Given the description of an element on the screen output the (x, y) to click on. 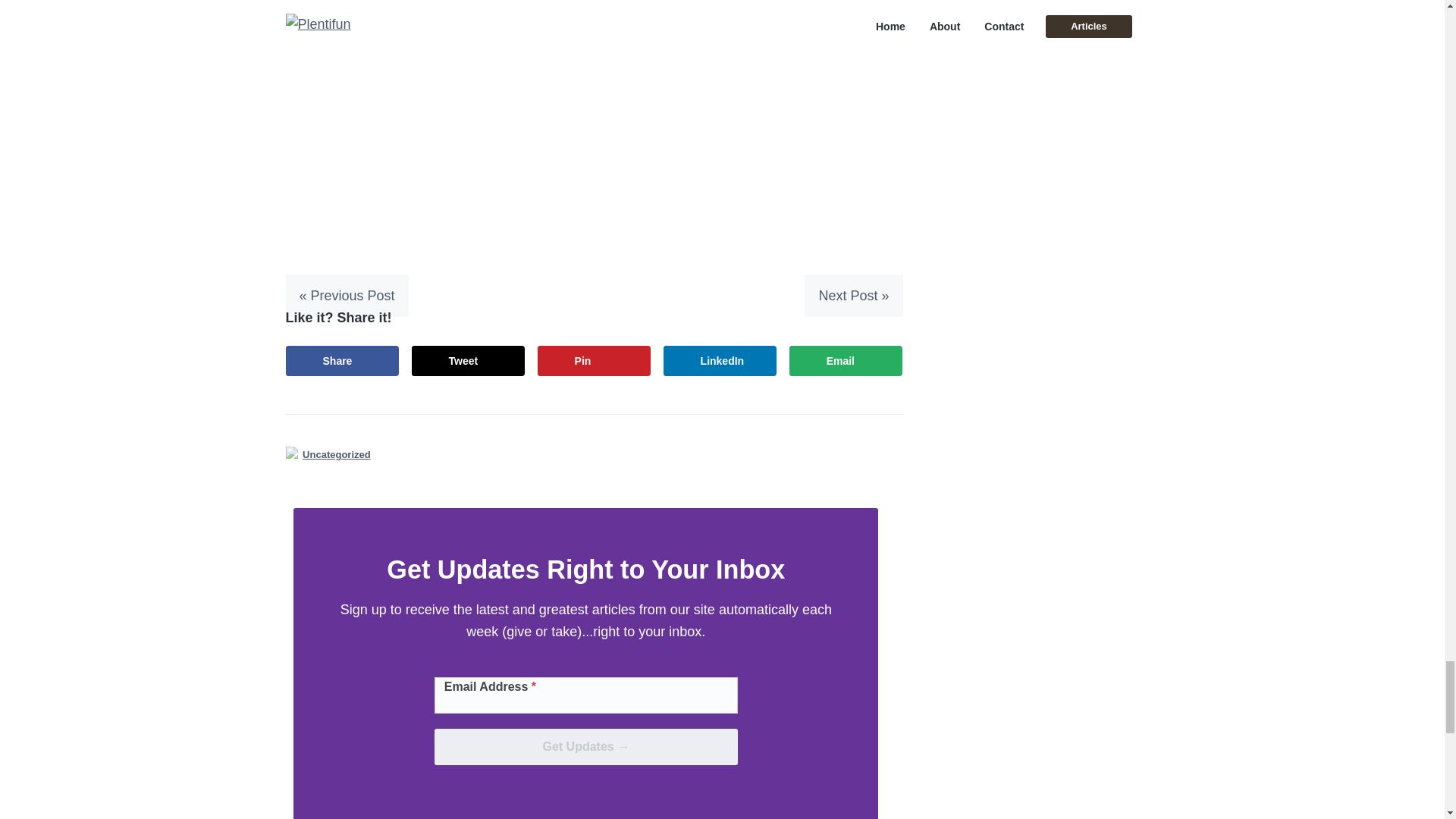
Save to Pinterest (593, 360)
Share (341, 360)
Share on X (468, 360)
Tweet (468, 360)
Send over email (845, 360)
Uncategorized (336, 454)
Share on Facebook (341, 360)
LinkedIn (720, 360)
Share on LinkedIn (720, 360)
Pin (593, 360)
